Given the description of an element on the screen output the (x, y) to click on. 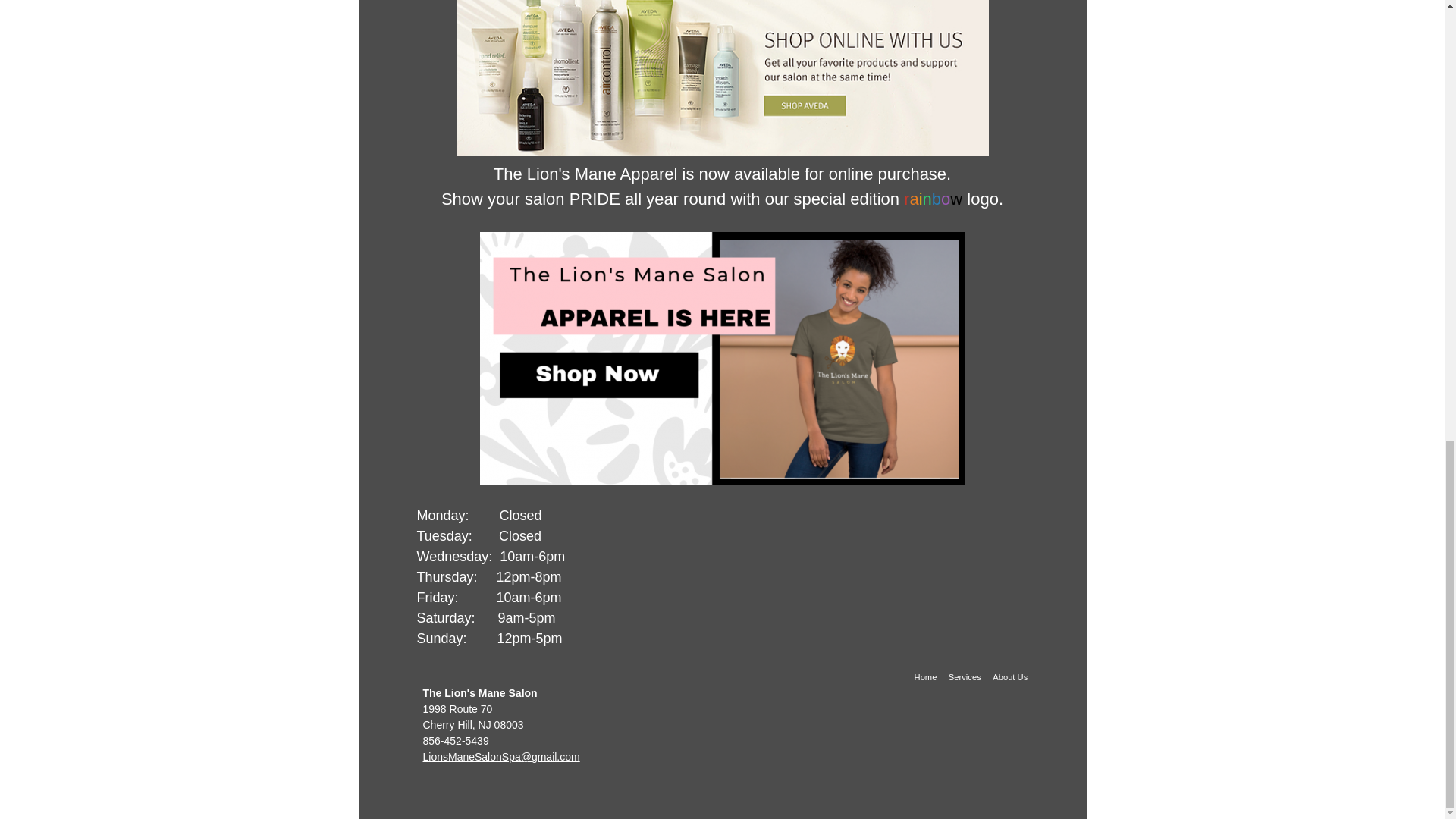
Services (964, 677)
Services (964, 677)
About Us (1009, 677)
About Us (1009, 677)
Home (925, 677)
Home (925, 677)
